Given the description of an element on the screen output the (x, y) to click on. 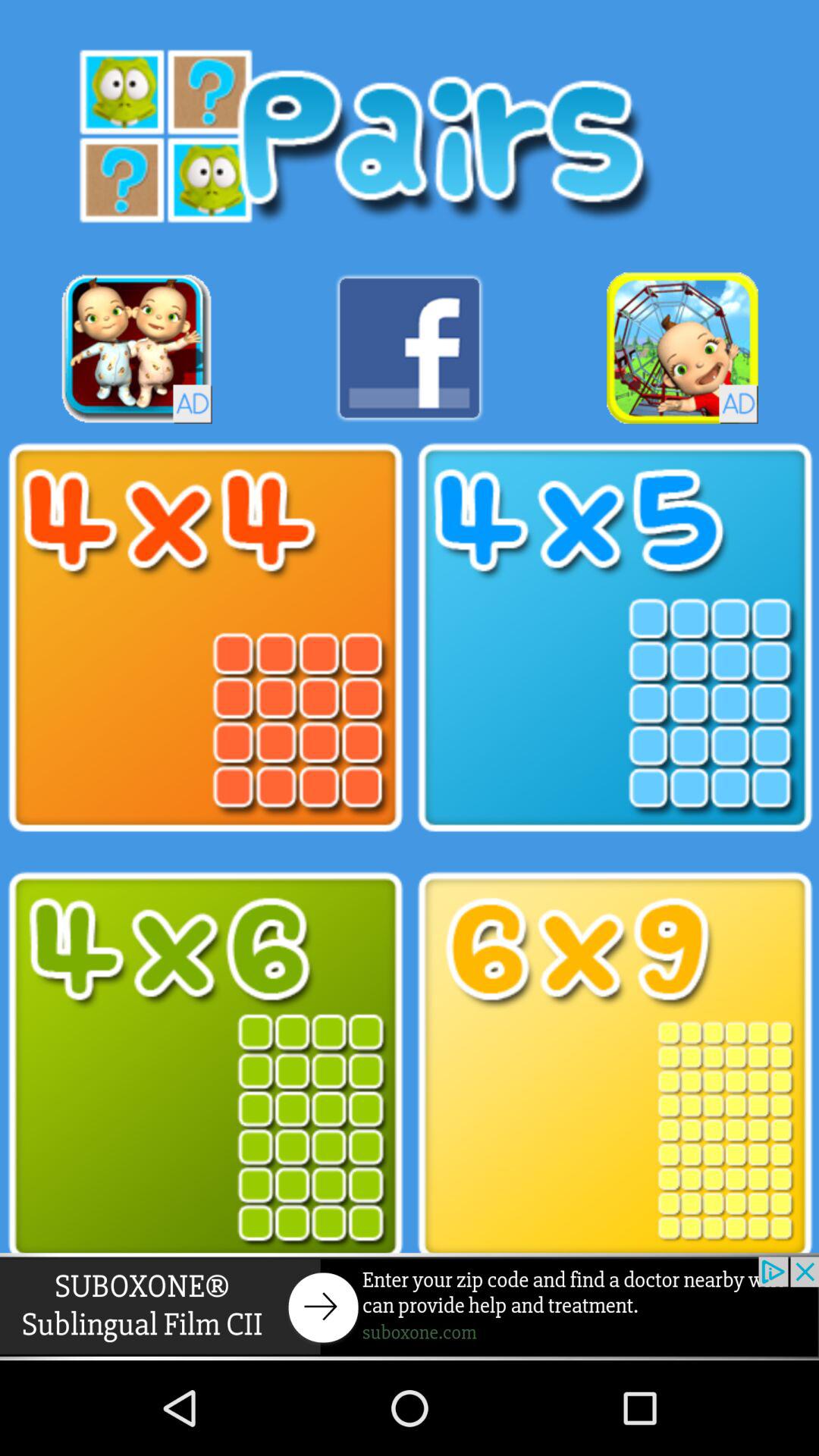
games (614, 637)
